Given the description of an element on the screen output the (x, y) to click on. 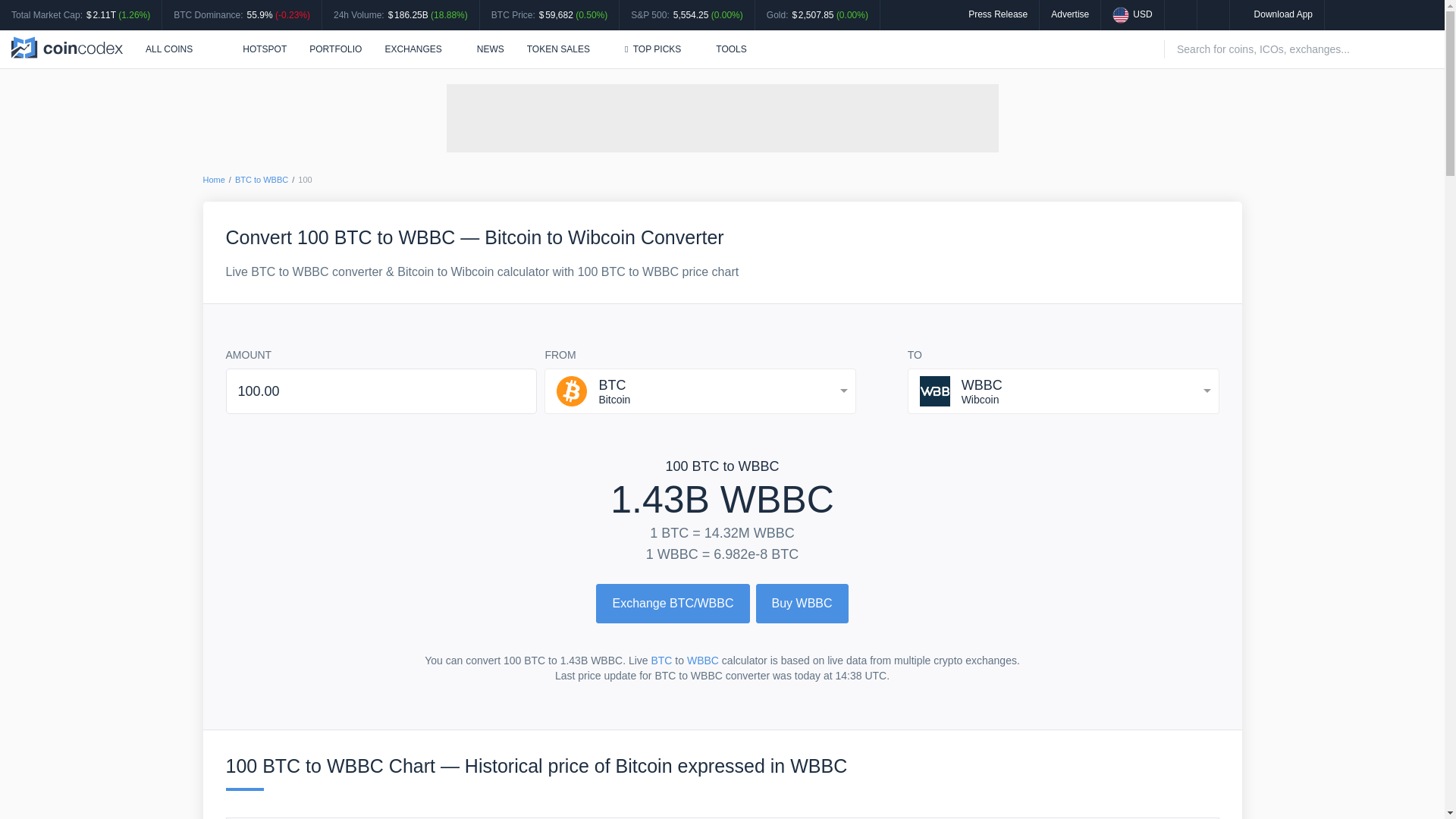
Buy WBBC (801, 603)
NEWS (490, 48)
BTC (660, 660)
Home (214, 179)
HOTSPOT (256, 48)
Advertise (1070, 14)
PORTFOLIO (335, 48)
WBBC (703, 660)
BTC to WBBC (261, 179)
Press Release (997, 14)
